Given the description of an element on the screen output the (x, y) to click on. 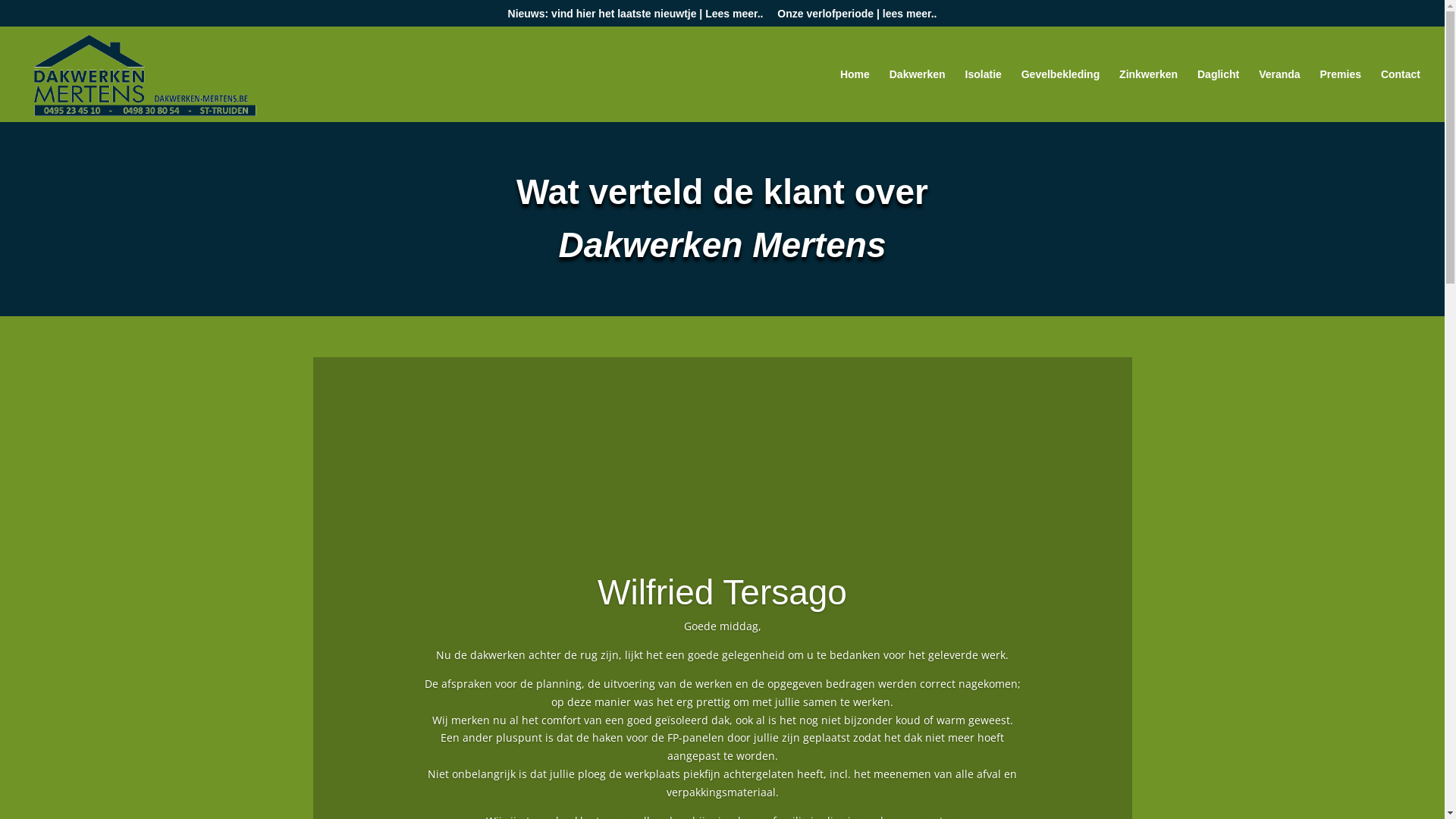
Premies Element type: text (1339, 95)
Veranda Element type: text (1278, 95)
Dakwerken Element type: text (917, 95)
Gevelbekleding Element type: text (1060, 95)
Nieuws: vind hier het laatste nieuwtje | Lees meer.. Element type: text (635, 16)
Daglicht Element type: text (1218, 95)
Isolatie Element type: text (983, 95)
Home Element type: text (854, 95)
Onze verlofperiode | lees meer.. Element type: text (856, 16)
Kimberly henrioulle Element type: text (722, 590)
Contact Element type: text (1400, 95)
Zinkwerken Element type: text (1148, 95)
